Given the description of an element on the screen output the (x, y) to click on. 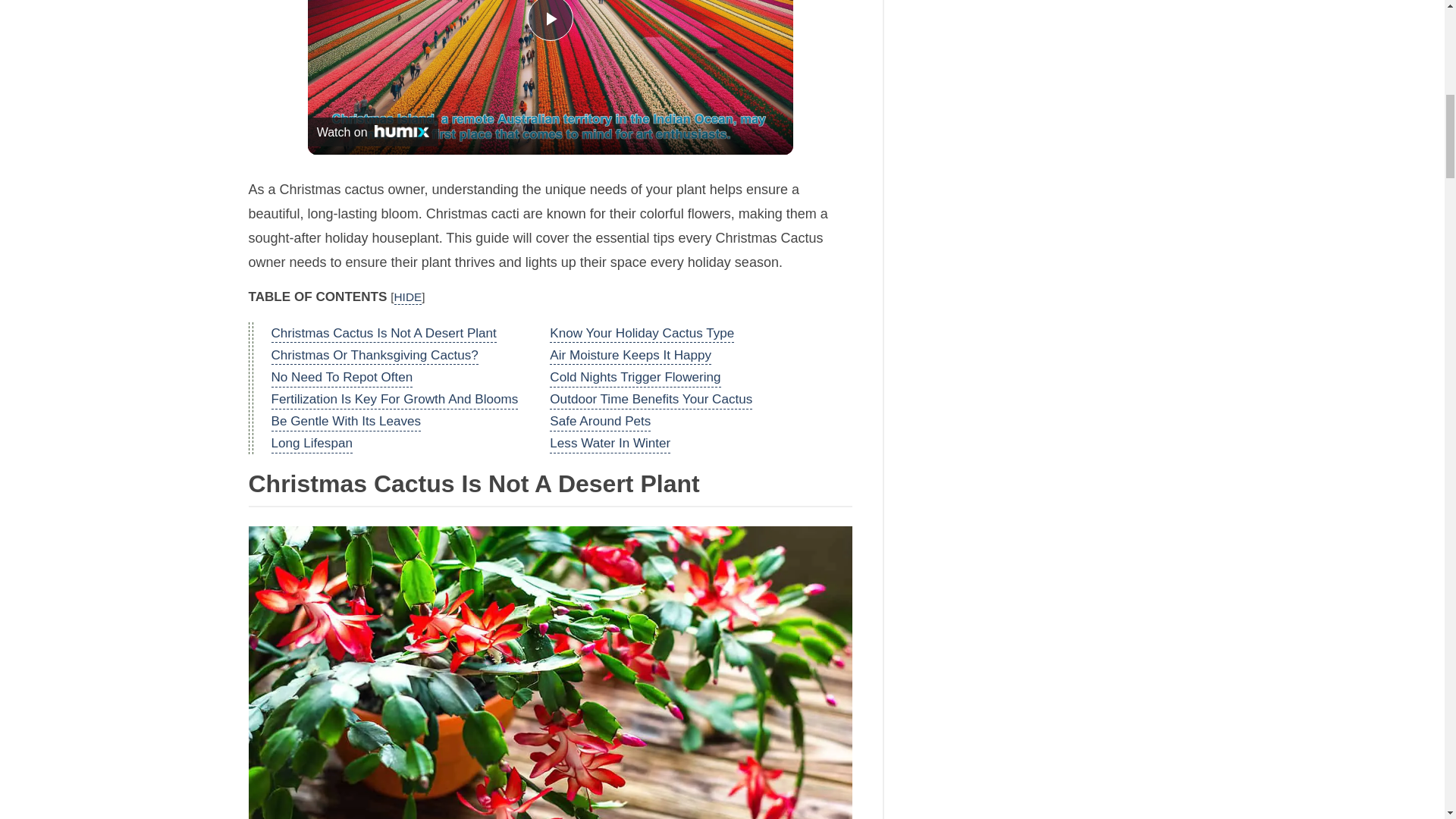
Play Video (550, 20)
Watch on (372, 131)
Christmas Cactus Is Not A Desert Plant (383, 334)
HIDE (408, 297)
Play Video (550, 20)
